Given the description of an element on the screen output the (x, y) to click on. 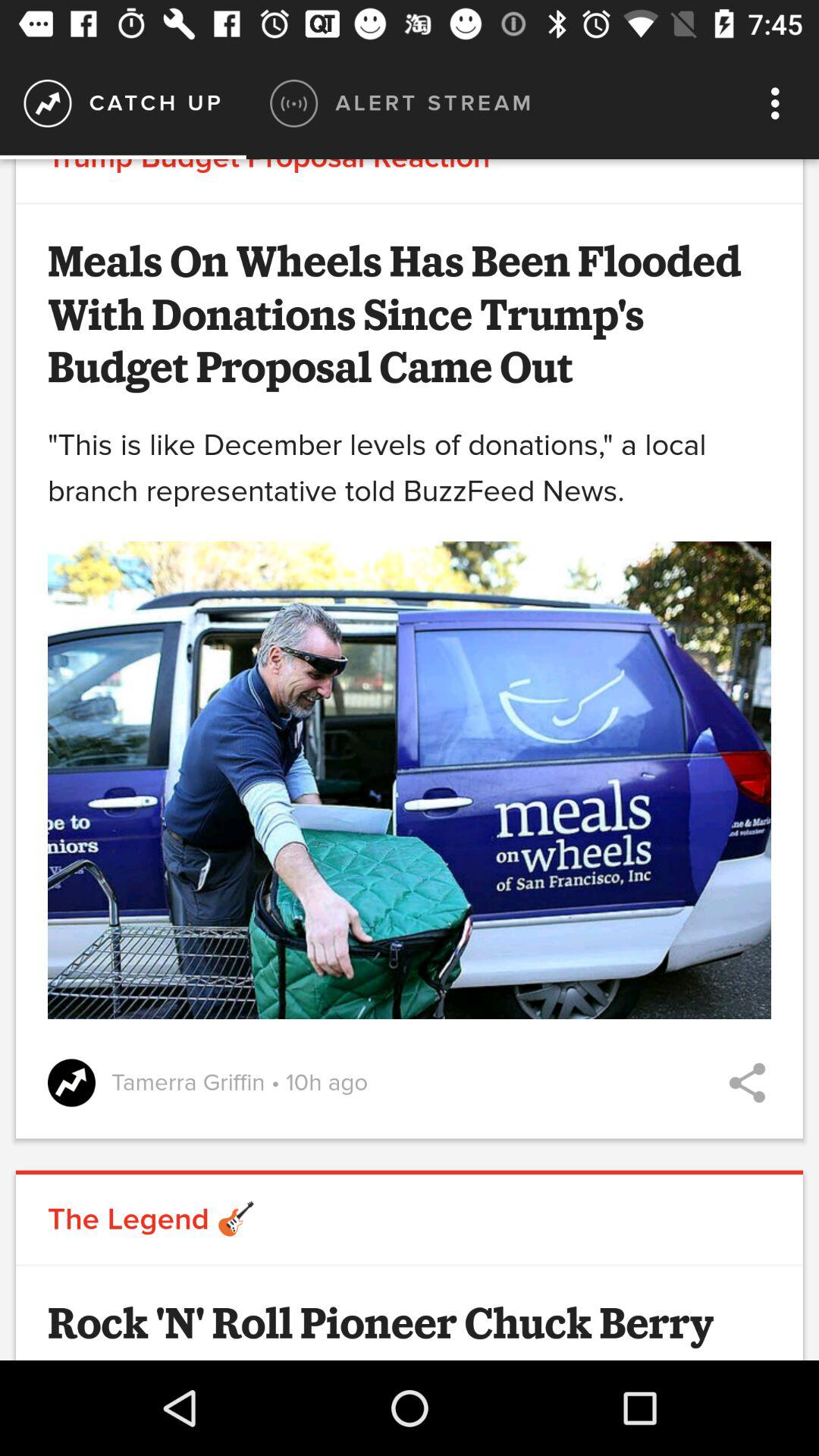
turn off item to the right of the alert stream icon (779, 103)
